Given the description of an element on the screen output the (x, y) to click on. 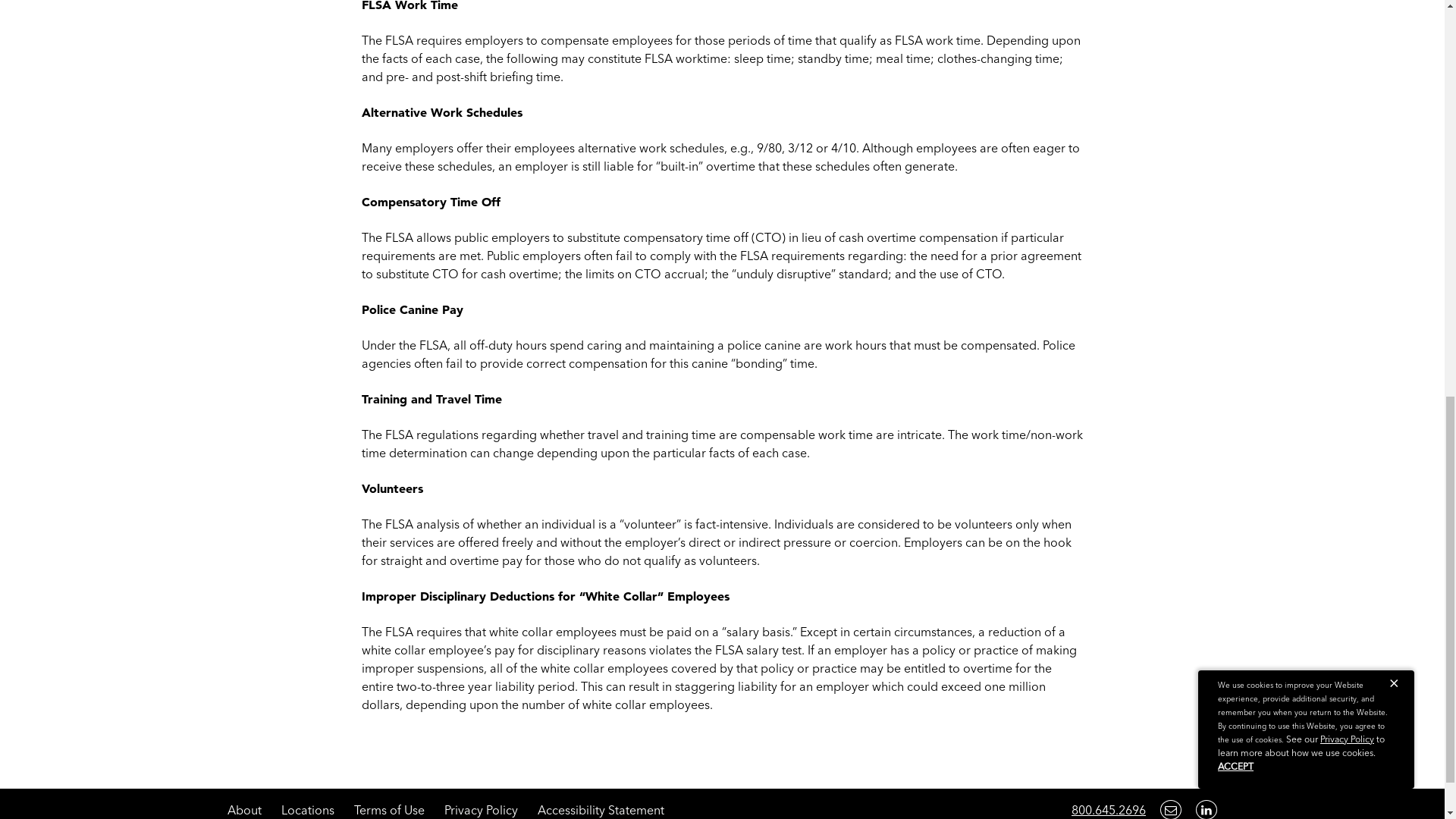
Locations (307, 809)
Terms of Use (389, 809)
Accessibility Statement (600, 809)
800.645.2696 (1108, 809)
Privacy Policy (481, 809)
About (244, 809)
